Given the description of an element on the screen output the (x, y) to click on. 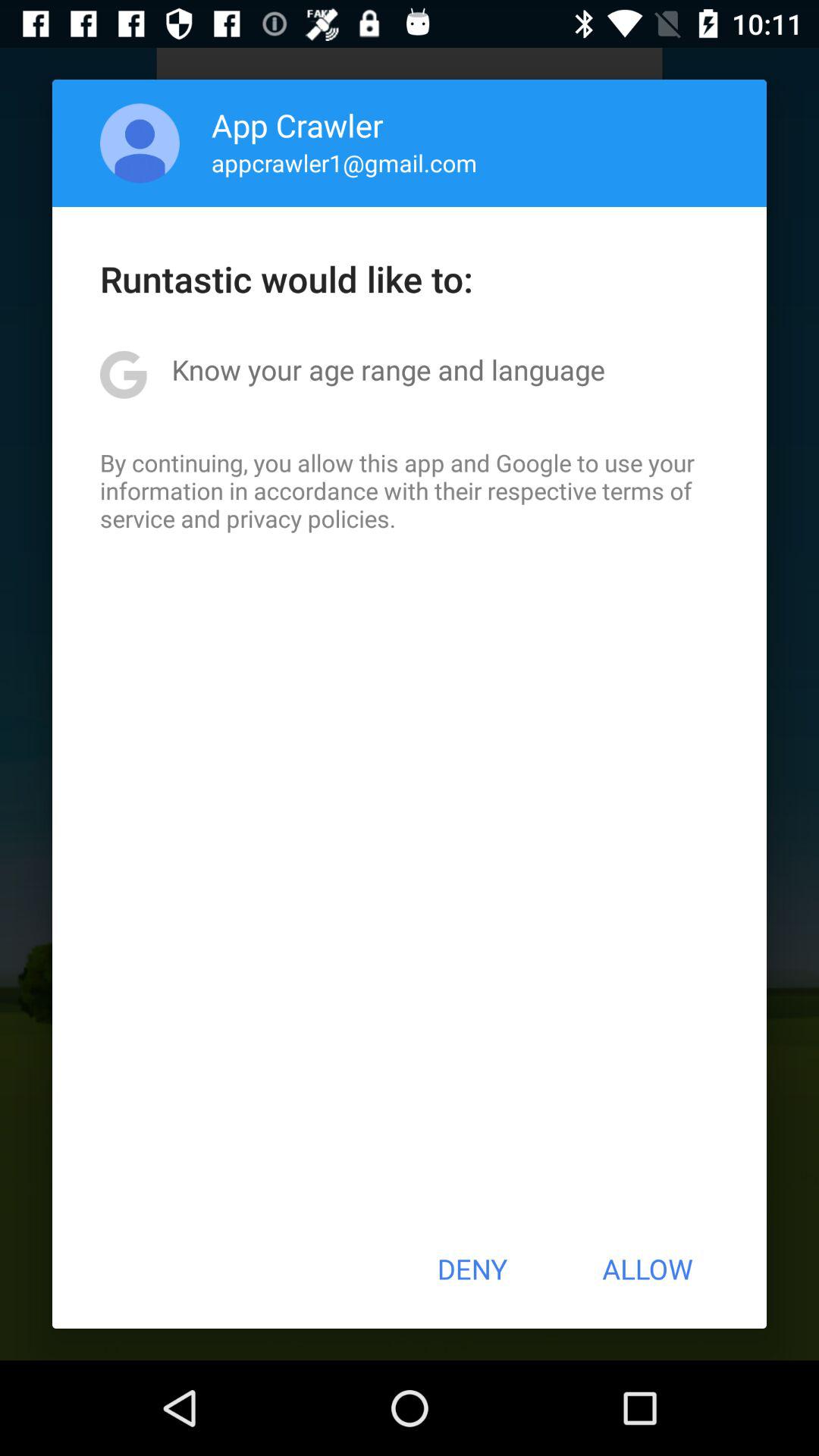
press icon above the runtastic would like (344, 162)
